Given the description of an element on the screen output the (x, y) to click on. 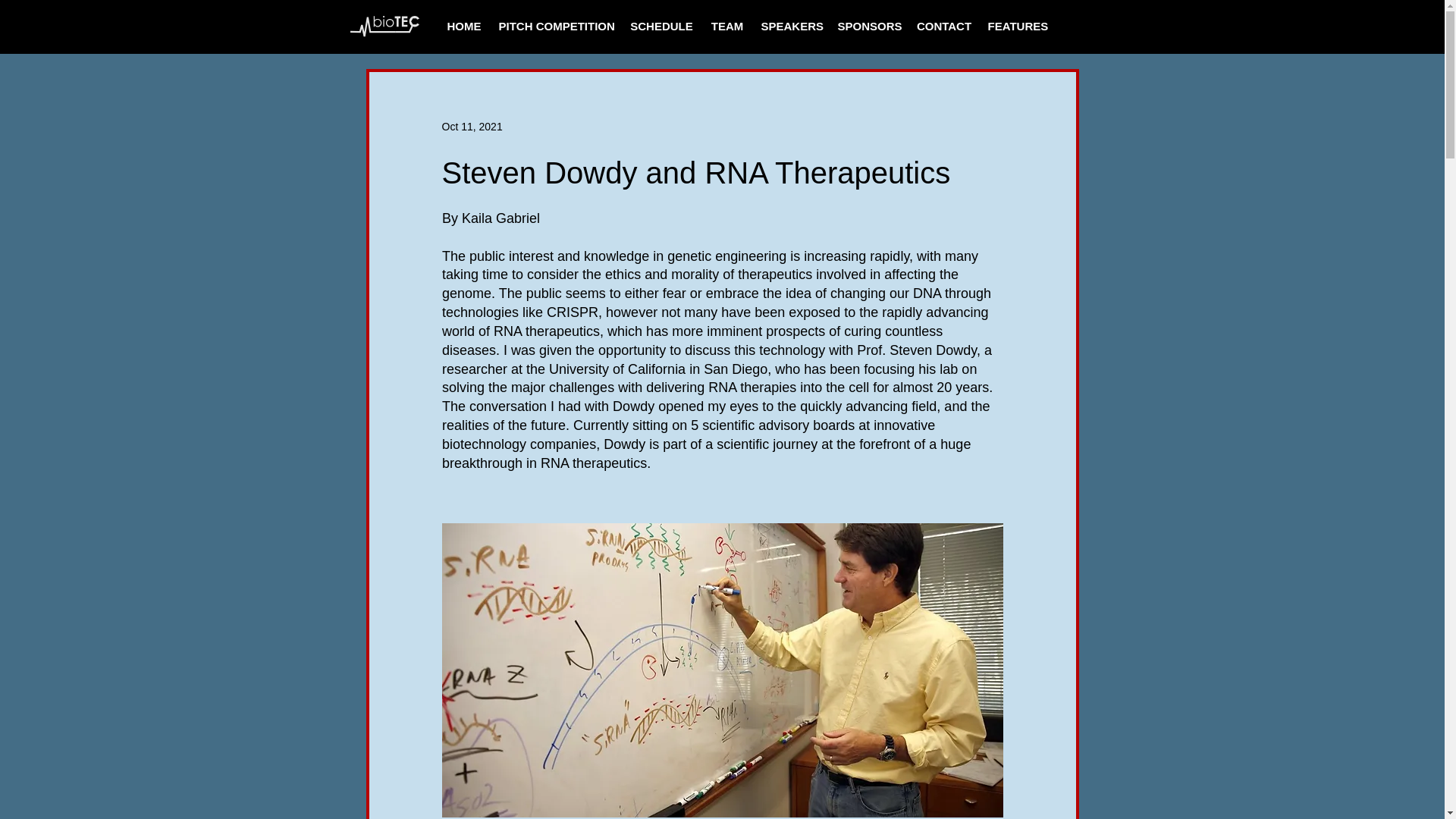
SPONSORS (868, 26)
SPEAKERS (791, 26)
PITCH COMPETITION (556, 26)
TEAM (726, 26)
FEATURES (1016, 26)
CONTACT (943, 26)
SCHEDULE (660, 26)
Oct 11, 2021 (471, 125)
HOME (463, 26)
